Given the description of an element on the screen output the (x, y) to click on. 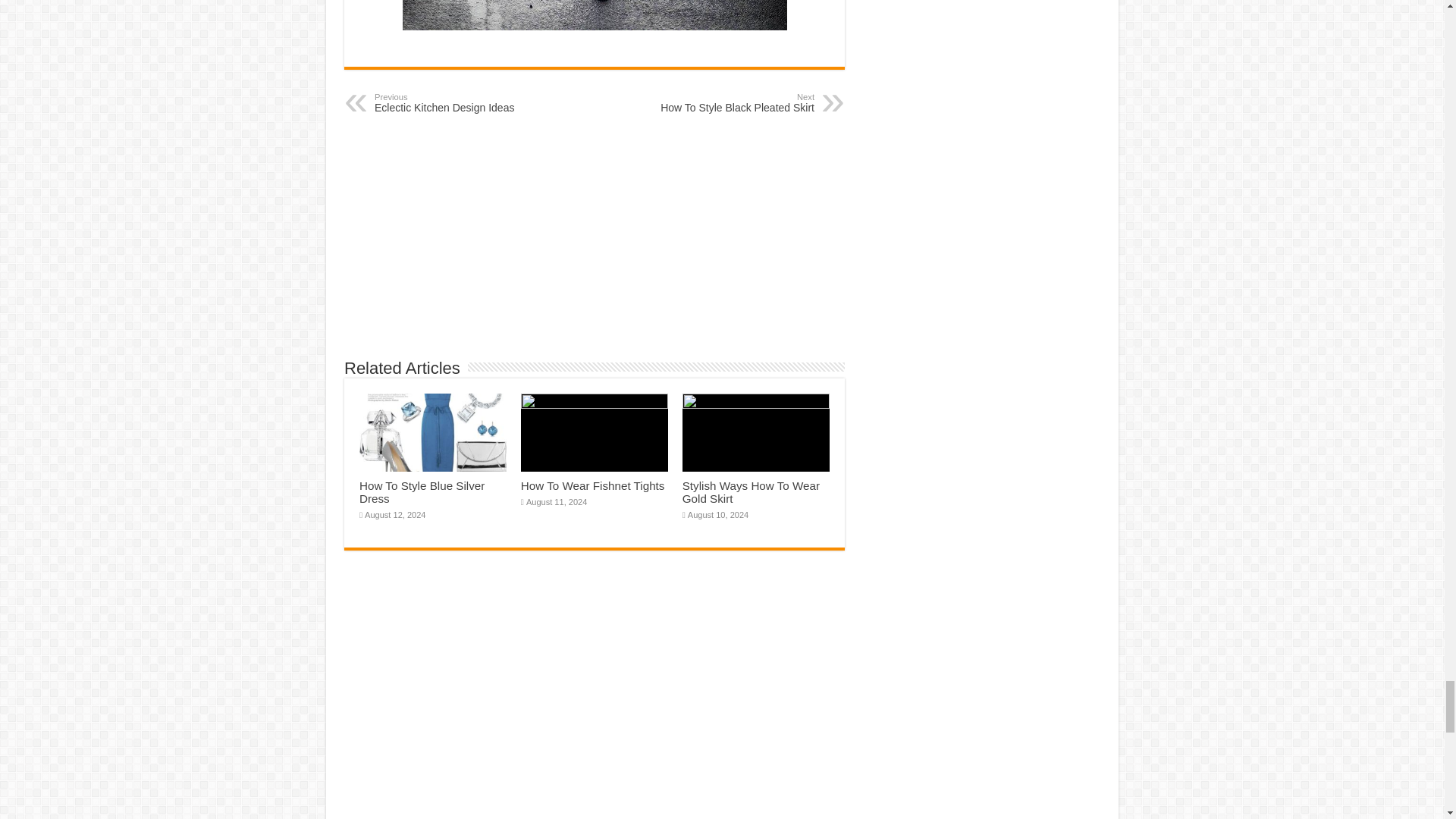
How To Style Blue Silver Dress (736, 102)
Stylish Ways How To Wear Gold Skirt (421, 492)
How To Wear Fishnet Tights (750, 492)
